Given the description of an element on the screen output the (x, y) to click on. 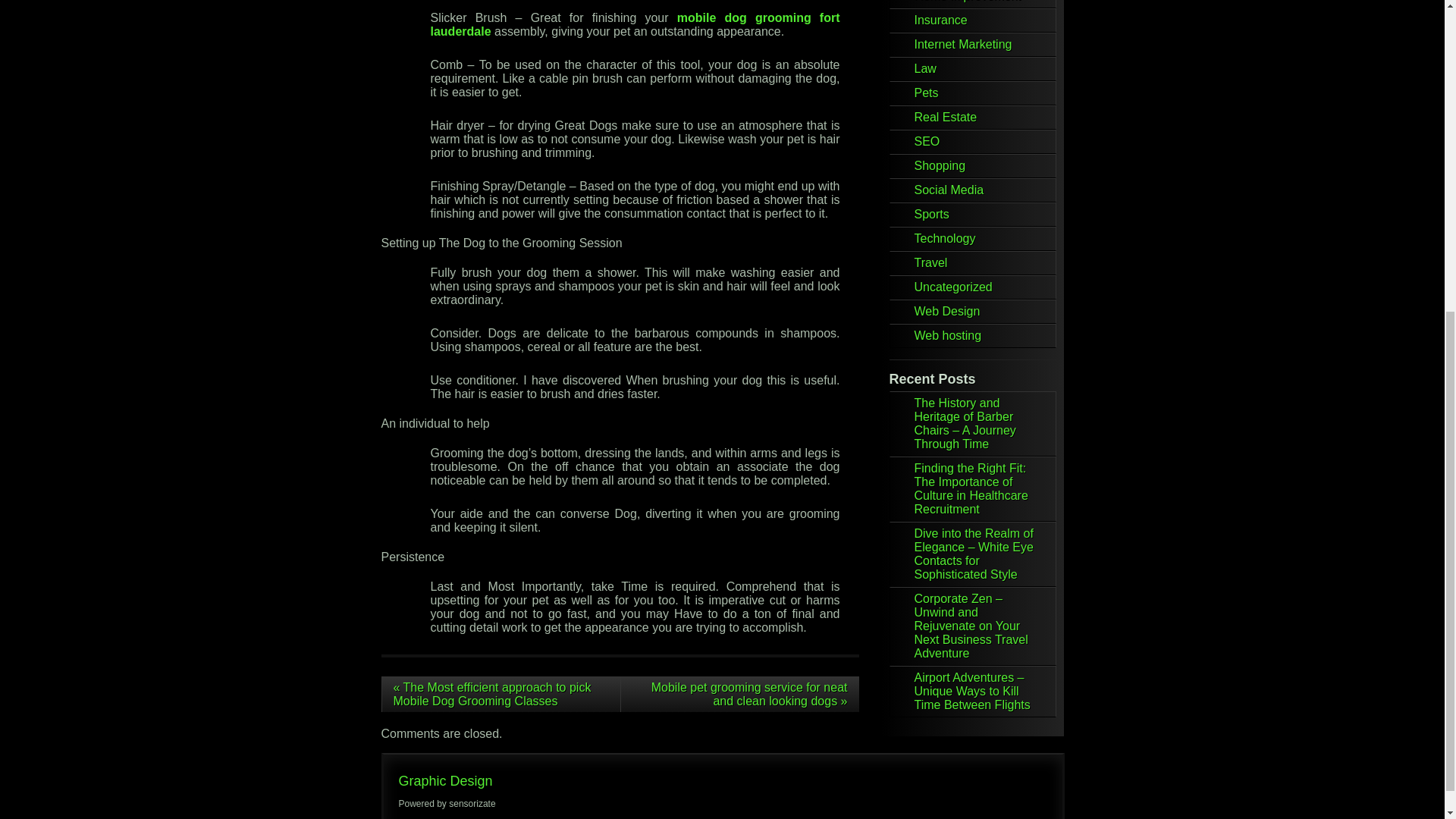
SEO (927, 141)
Web Design (946, 310)
Real Estate (945, 116)
Law (925, 68)
Web hosting (947, 335)
Pets (926, 92)
Social Media (949, 189)
Shopping (940, 164)
Graphic Design (445, 781)
